Given the description of an element on the screen output the (x, y) to click on. 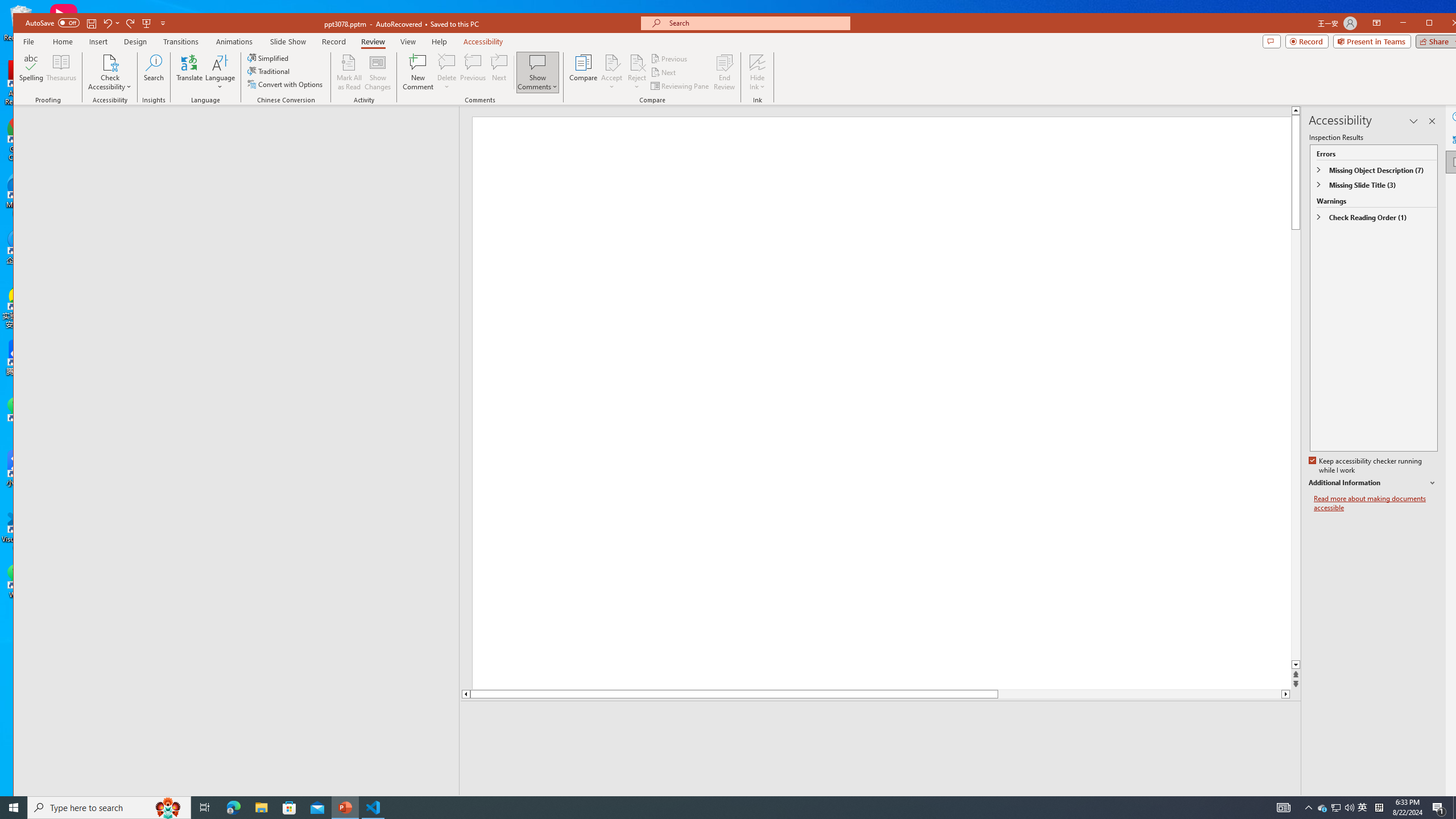
End Review (723, 72)
Spelling... (31, 72)
Simplified (269, 57)
Thesaurus... (61, 72)
